Given the description of an element on the screen output the (x, y) to click on. 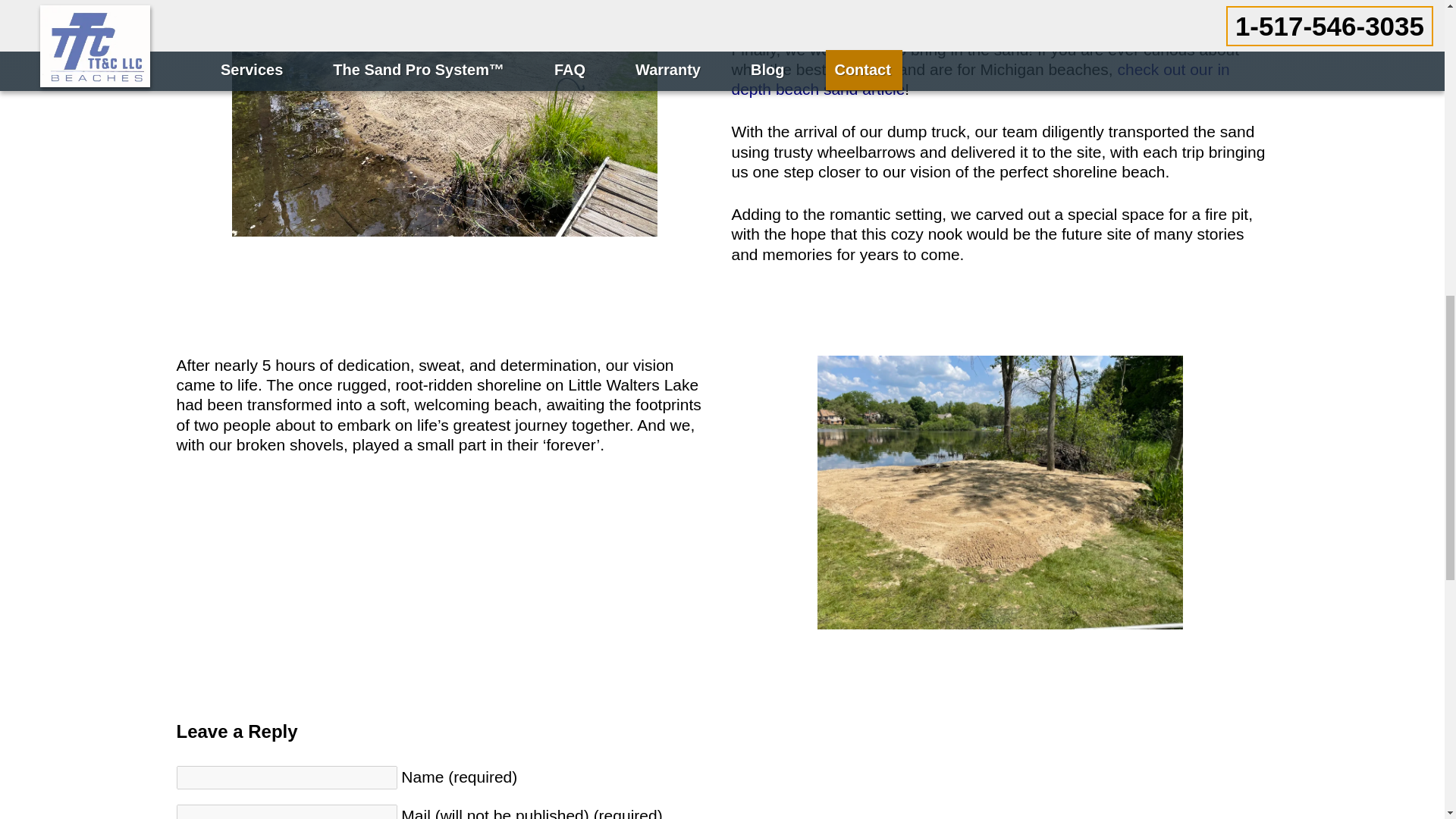
check out our in depth beach sand article (979, 78)
